Given the description of an element on the screen output the (x, y) to click on. 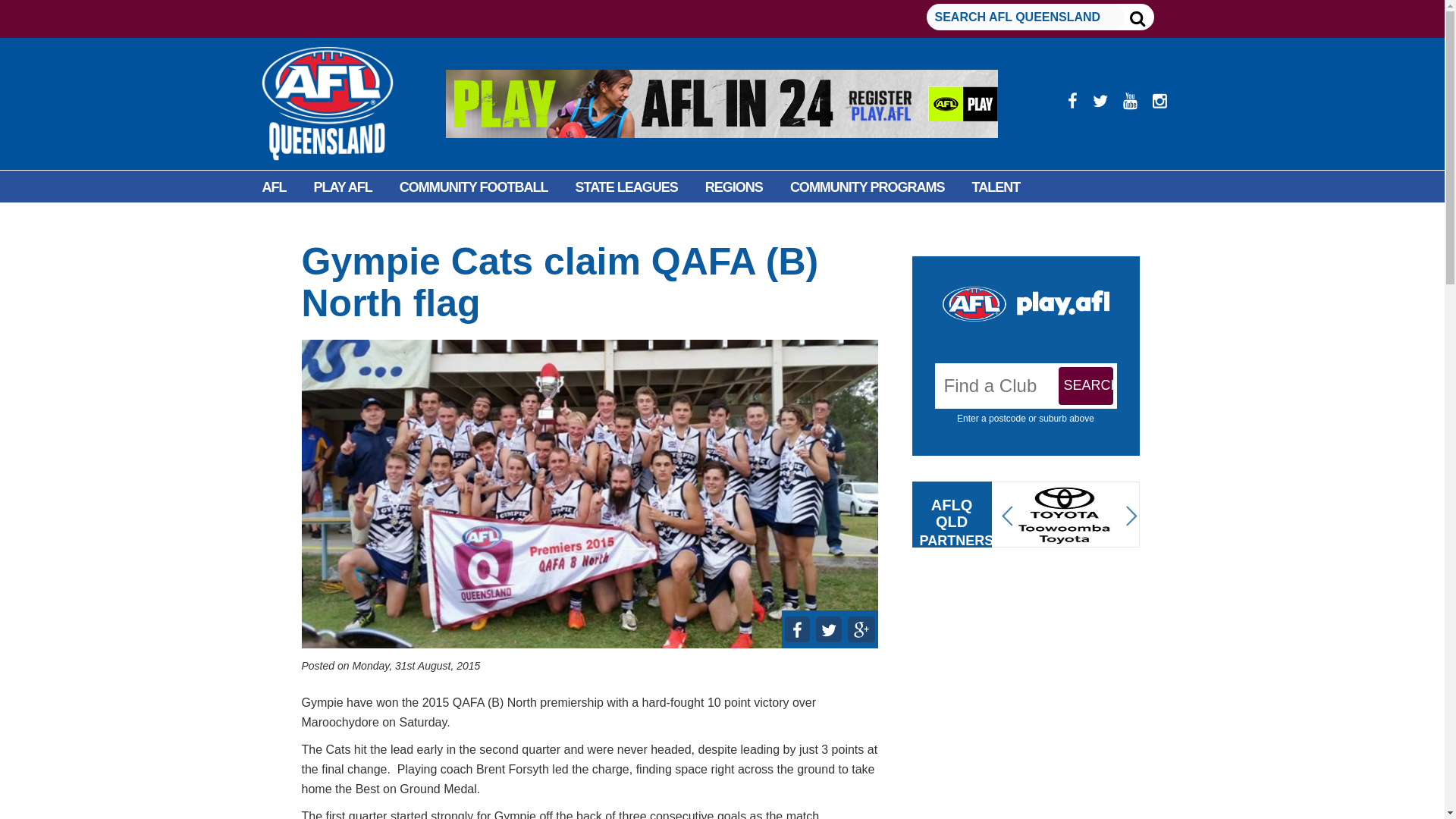
TALENT (995, 187)
AFL (273, 187)
COMMUNITY FOOTBALL (473, 187)
Search (1085, 385)
FACILITIES (295, 221)
REGIONS (733, 187)
Search (1085, 385)
PLAY AFL (342, 187)
STATE LEAGUES (626, 187)
INFORMATION HUB (414, 221)
COMMUNITY PROGRAMS (867, 187)
